Given the description of an element on the screen output the (x, y) to click on. 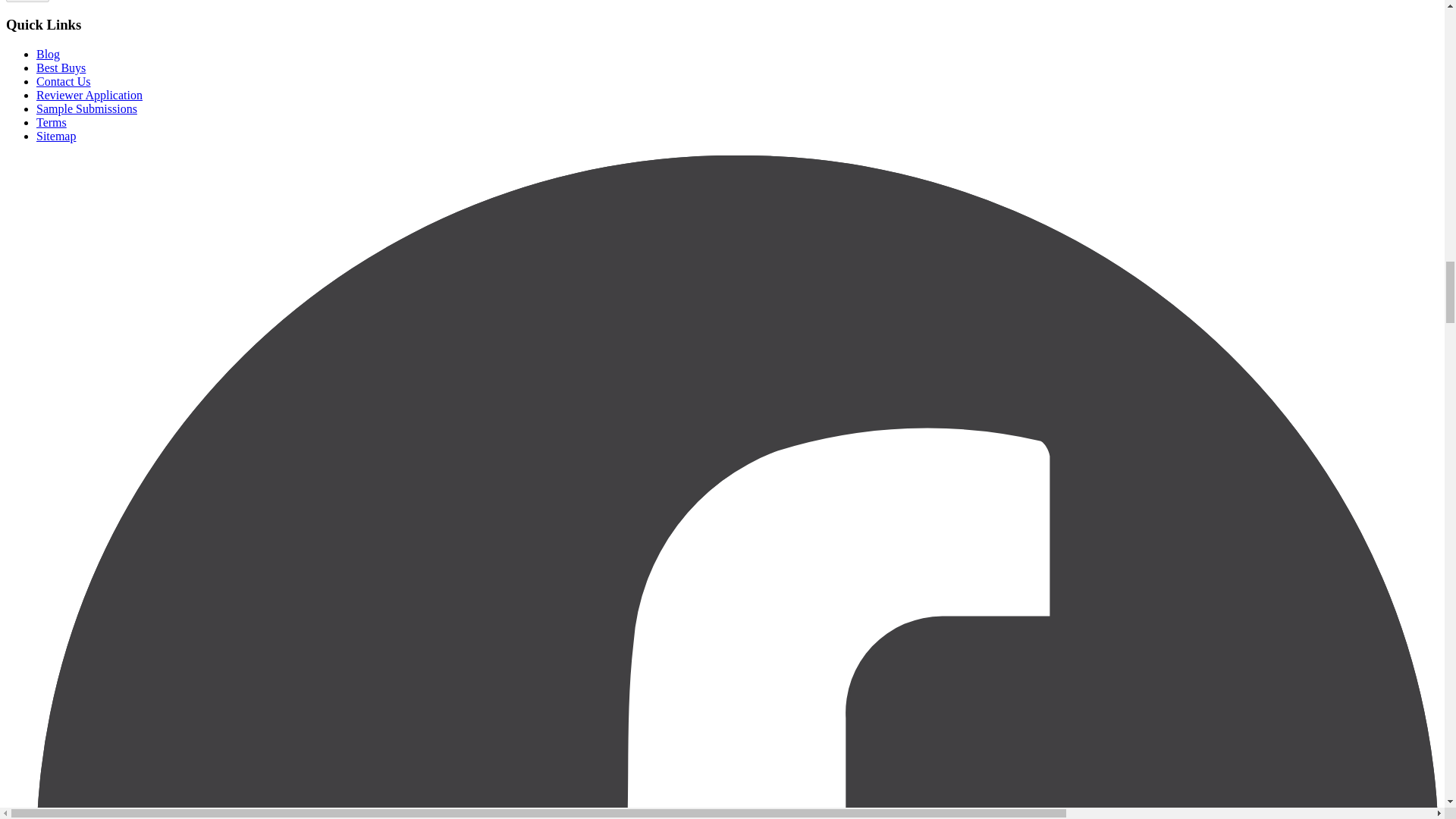
Submit (27, 1)
Submit (27, 1)
